Given the description of an element on the screen output the (x, y) to click on. 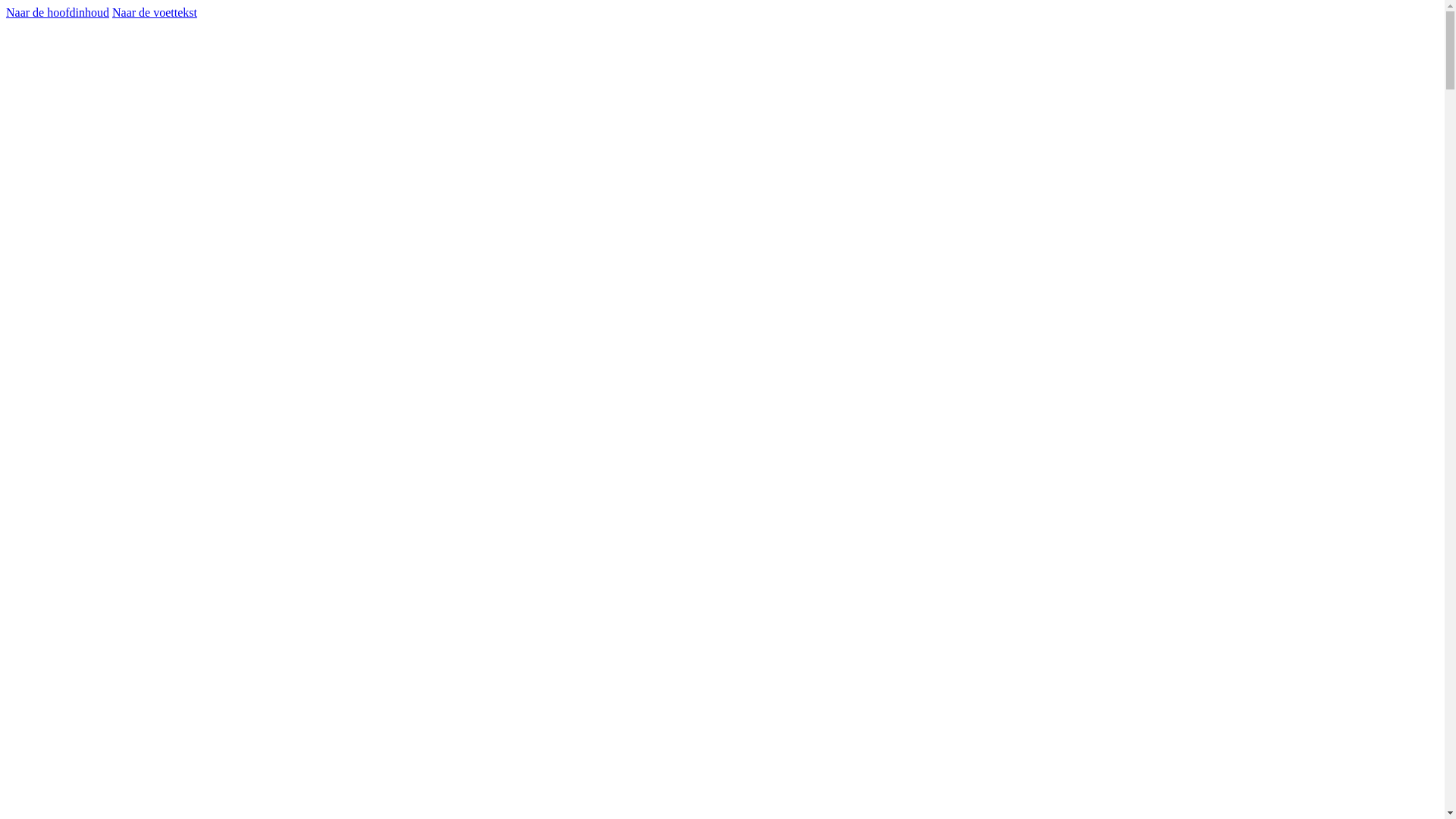
Naar de hoofdinhoud Element type: text (57, 12)
Naar de voettekst Element type: text (154, 12)
